Given the description of an element on the screen output the (x, y) to click on. 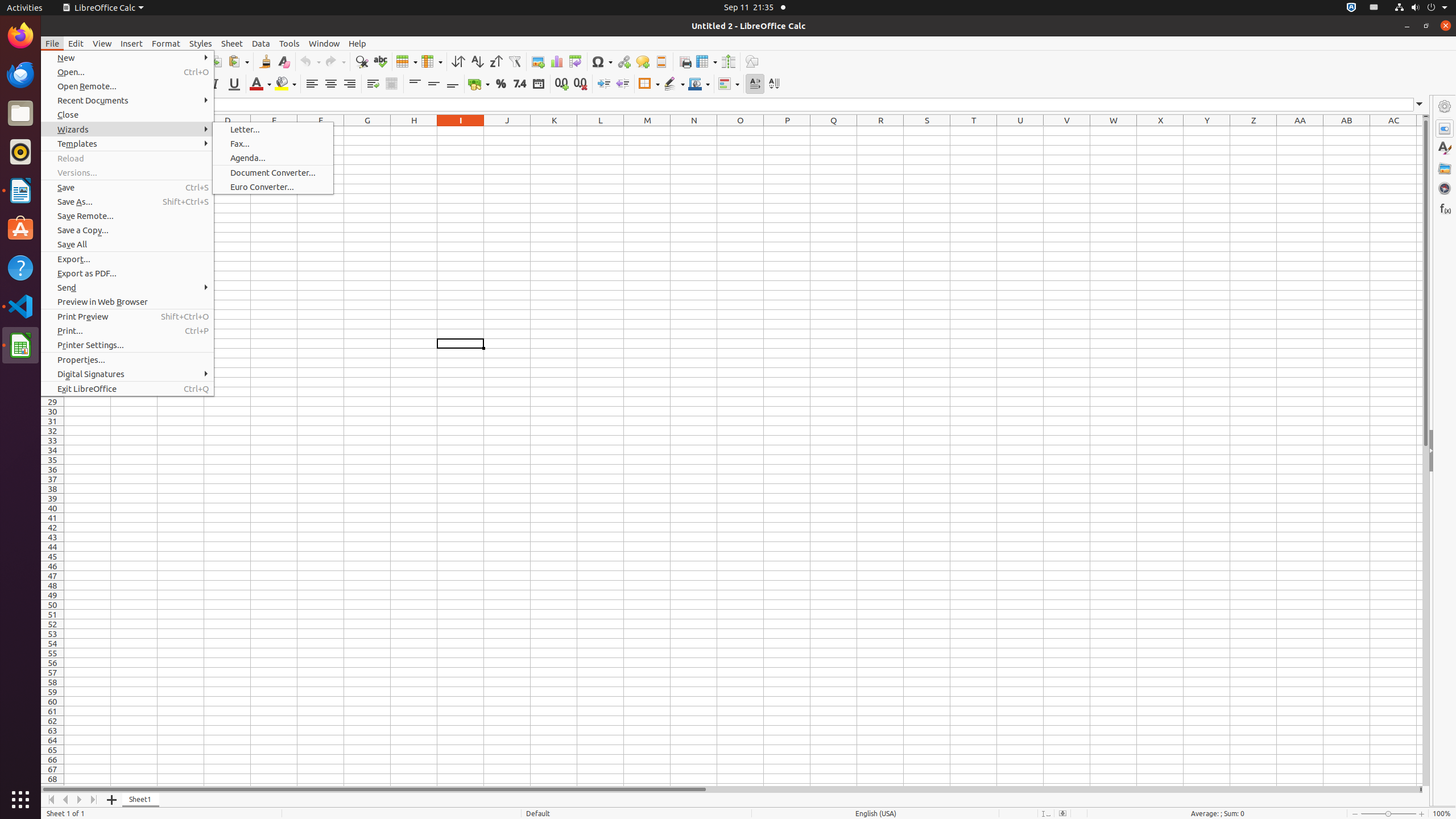
X1 Element type: table-cell (1159, 130)
Letter... Element type: menu-item (272, 129)
Conditional Element type: push-button (728, 83)
